Given the description of an element on the screen output the (x, y) to click on. 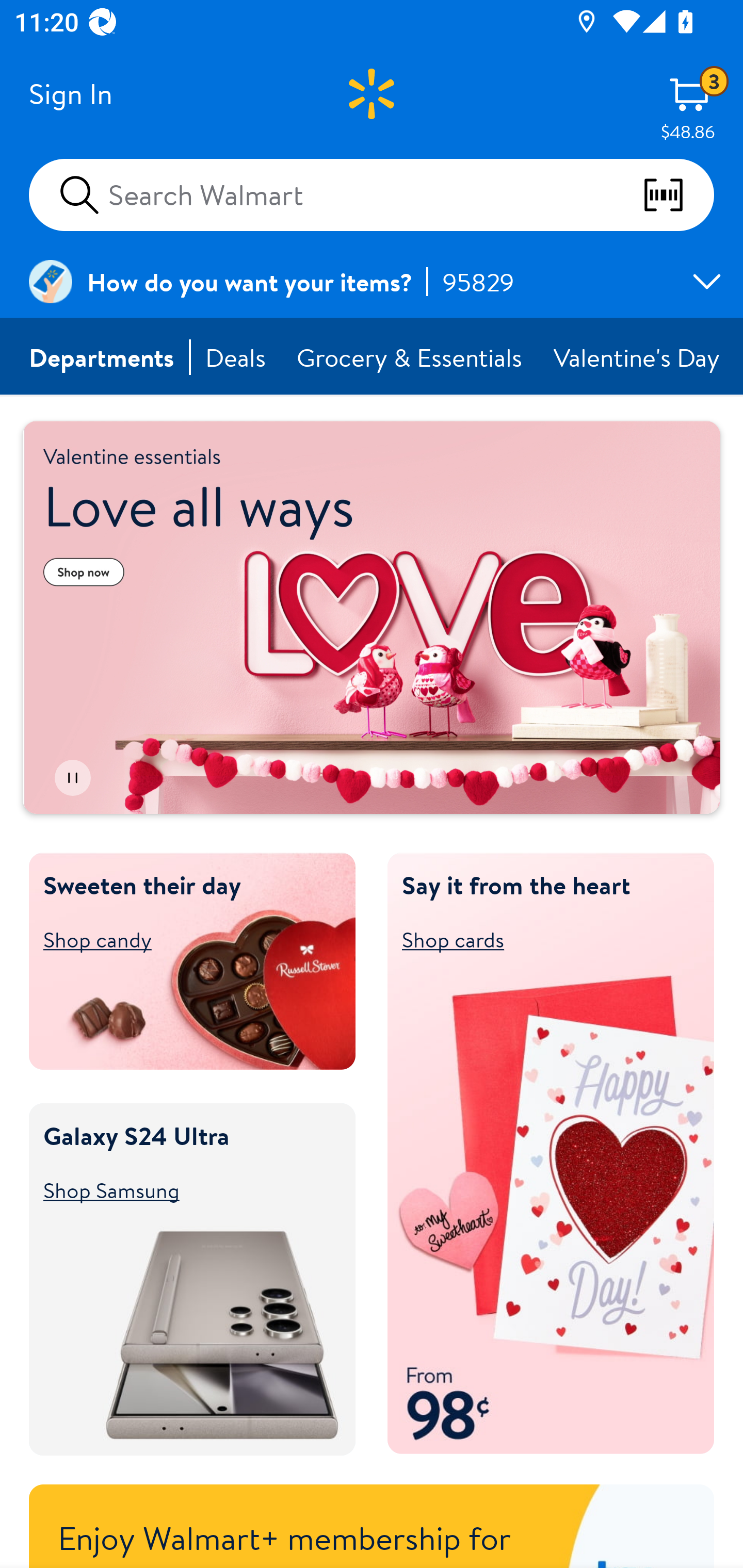
Sign In (70, 93)
Search Walmart scan barcodes qr codes and more (371, 194)
scan barcodes qr codes and more (677, 195)
Departments (102, 357)
Deals (236, 357)
Grocery & Essentials (410, 357)
Valentine's Day (637, 357)
Pause (72, 777)
Shop candy Shop candy Sweeten their day (183, 939)
Shop cards Shop cards Say it from the heart (541, 939)
Shop Samsung Shop Samsung Galaxy S24 Ultra (183, 1190)
